Given the description of an element on the screen output the (x, y) to click on. 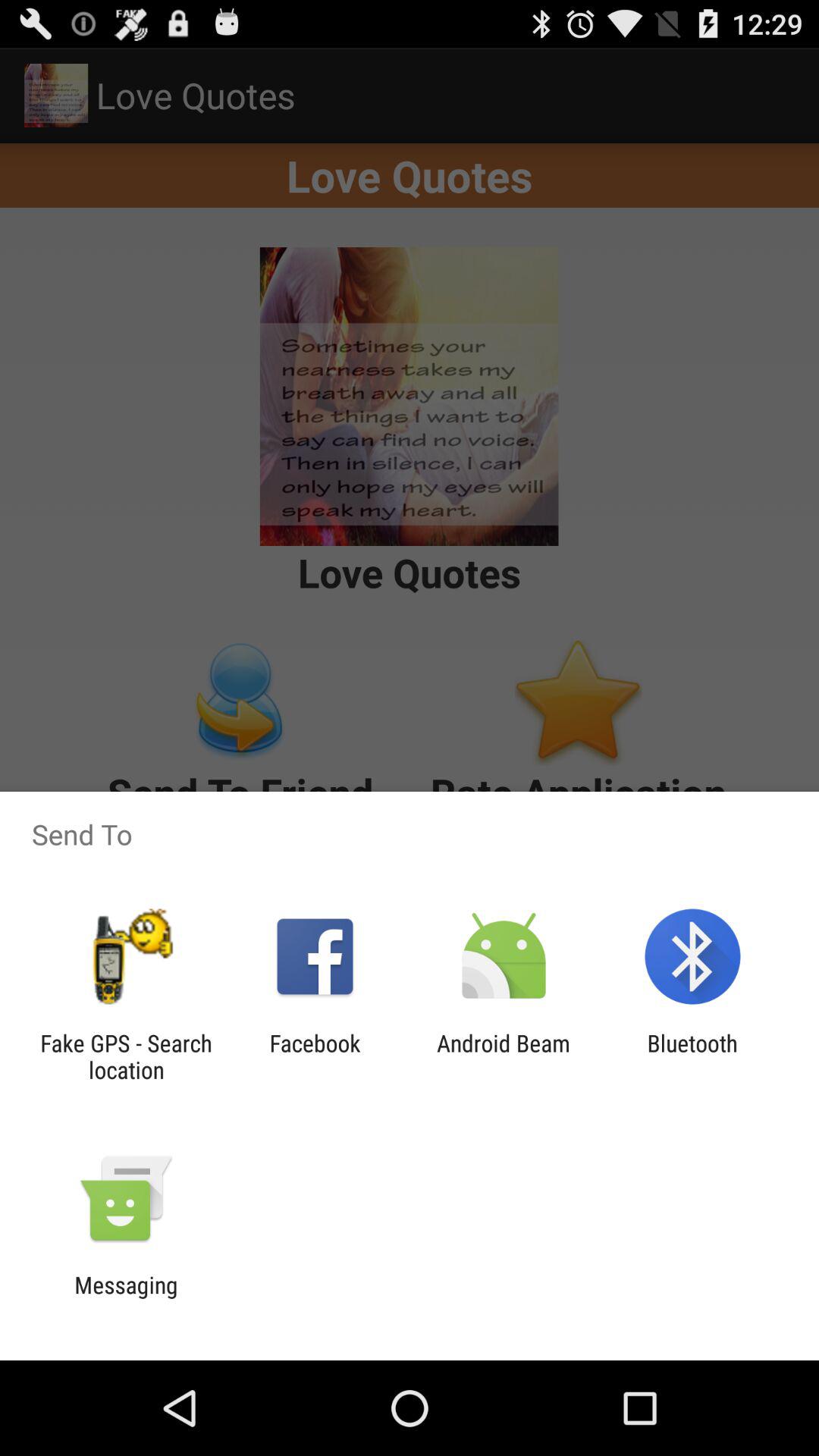
turn off icon next to the bluetooth (503, 1056)
